Given the description of an element on the screen output the (x, y) to click on. 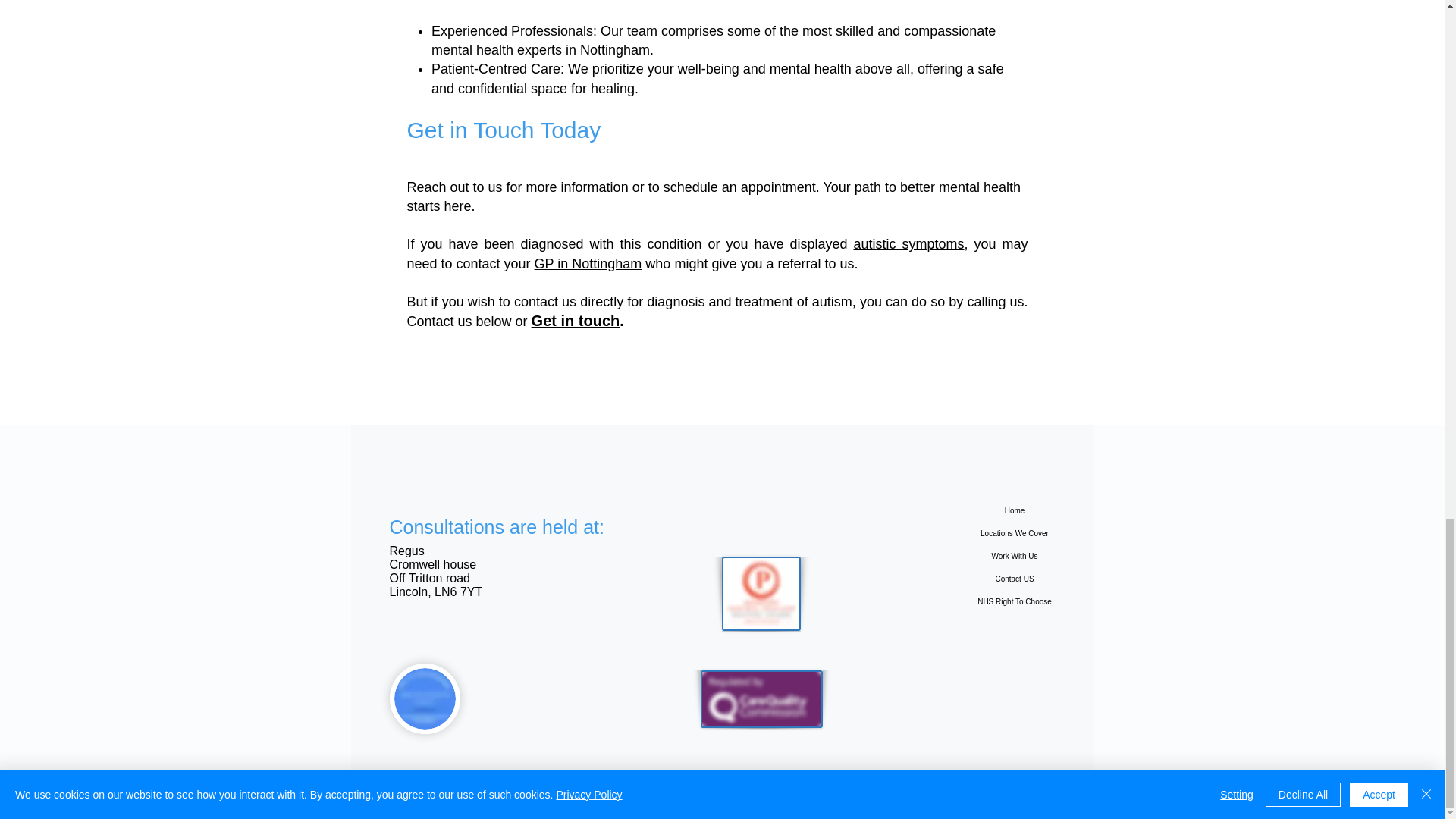
autistic symptoms (908, 243)
GP in Nottingham (588, 263)
